Given the description of an element on the screen output the (x, y) to click on. 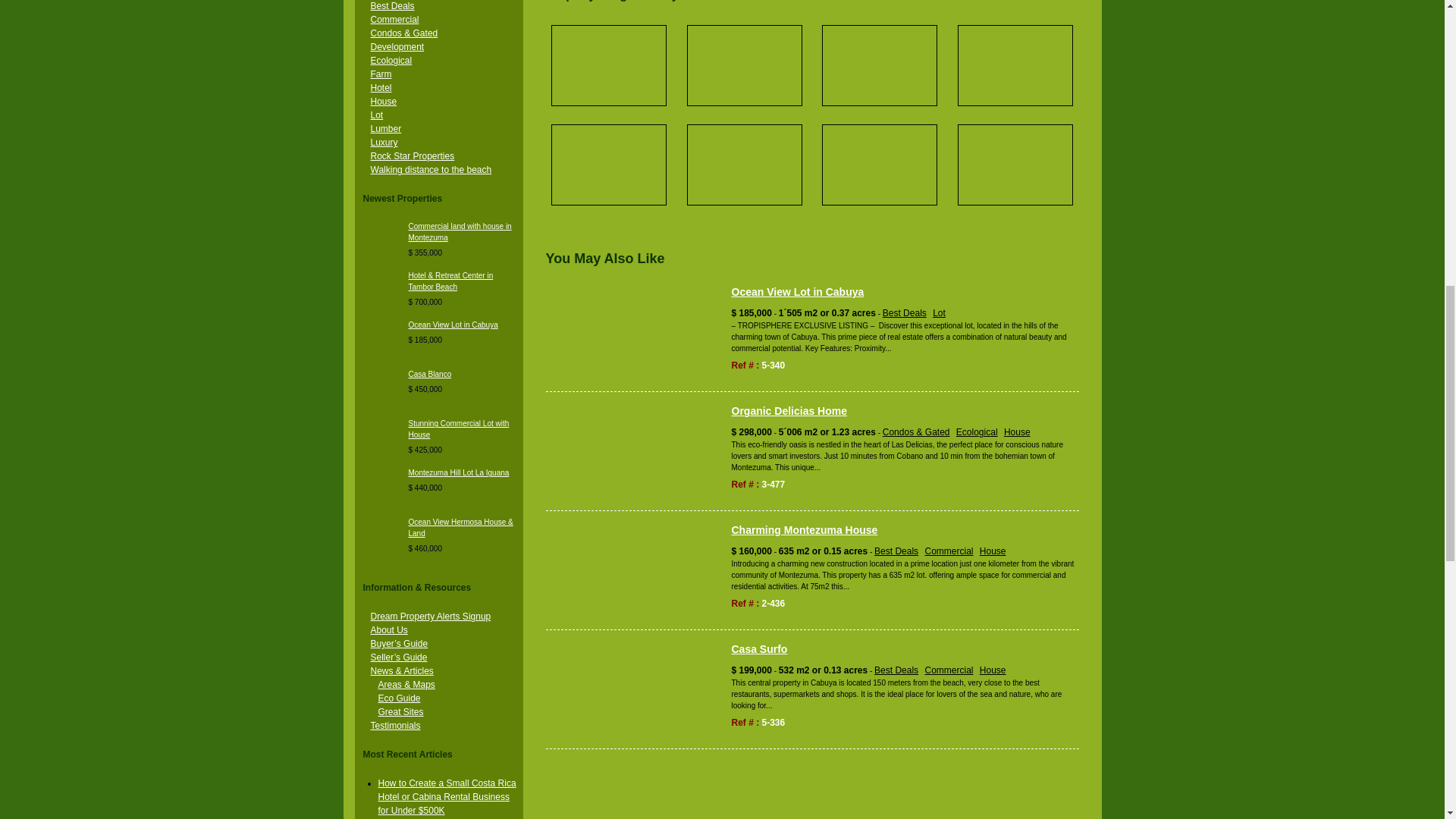
Development (396, 46)
Best Deals (391, 5)
Ecological (390, 60)
Commercial (394, 19)
Lot (375, 114)
Hotel (380, 87)
Farm (380, 73)
House (382, 101)
